Given the description of an element on the screen output the (x, y) to click on. 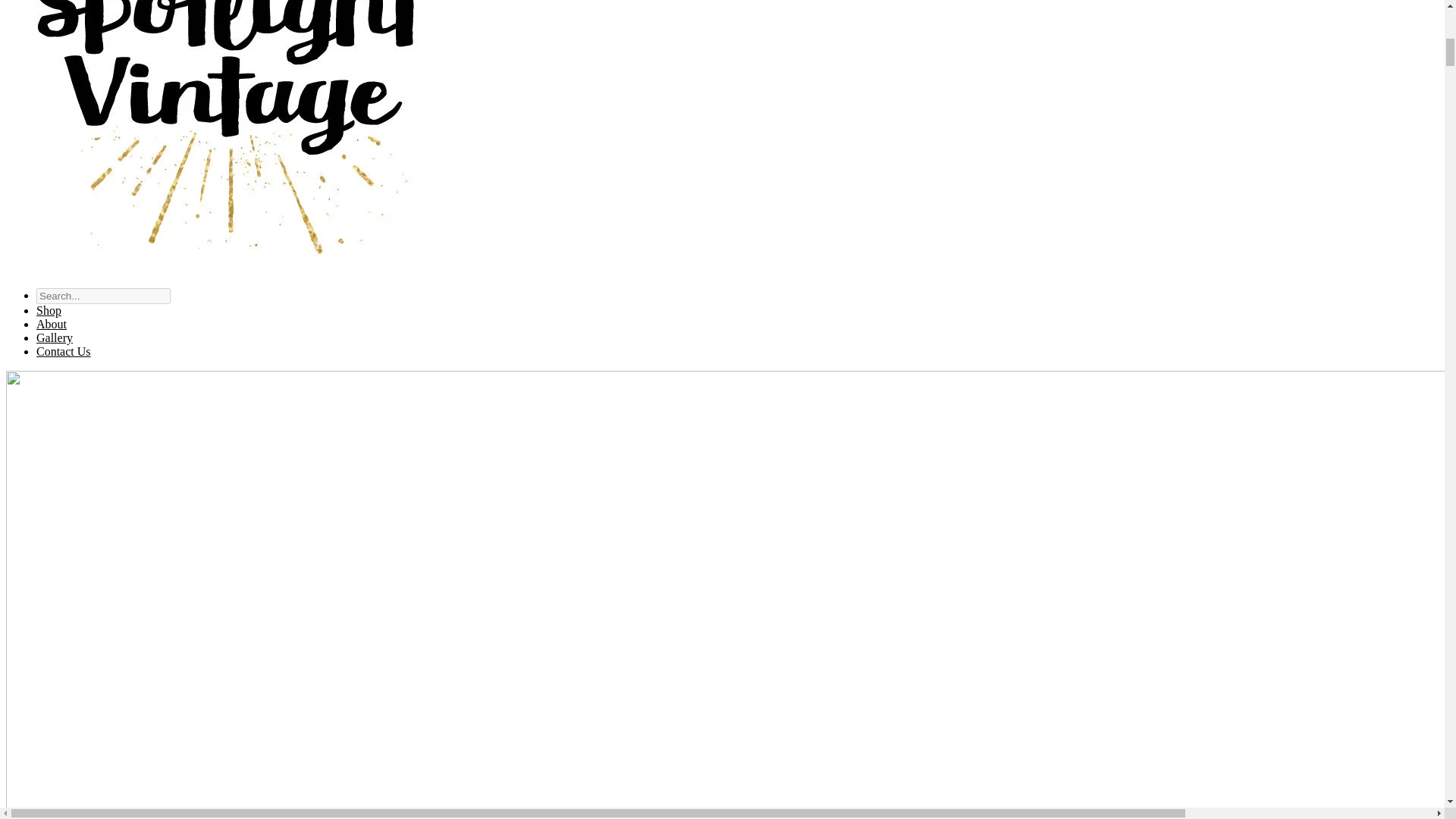
Contact Us (63, 350)
Gallery (54, 337)
About (51, 323)
Shop (48, 309)
